Given the description of an element on the screen output the (x, y) to click on. 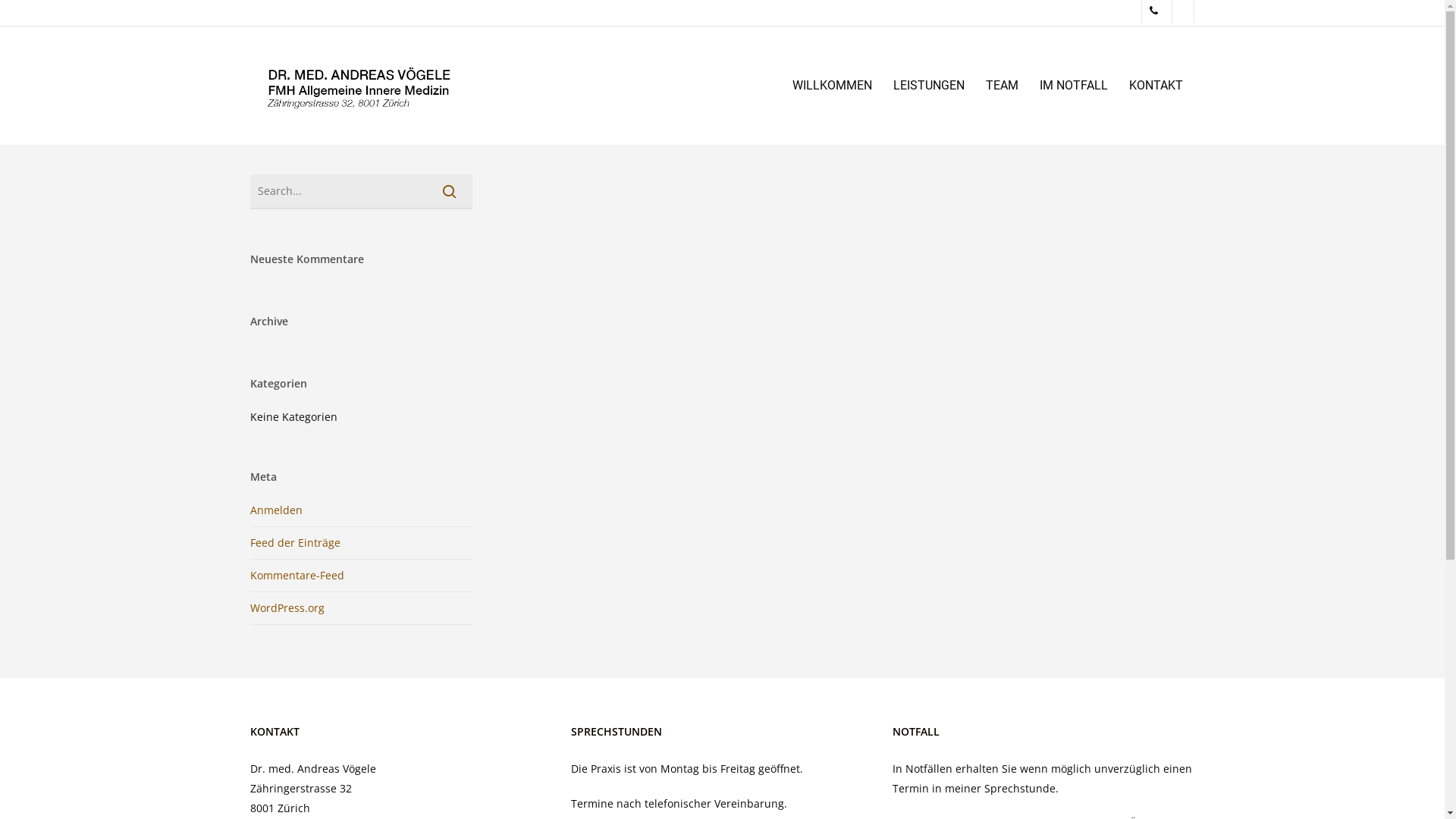
TEAM Element type: text (1001, 85)
WordPress.org Element type: text (287, 607)
Kommentare-Feed Element type: text (297, 574)
LEISTUNGEN Element type: text (928, 85)
KONTAKT Element type: text (1156, 85)
IM NOTFALL Element type: text (1073, 85)
WILLKOMMEN Element type: text (832, 85)
Search for: Element type: hover (361, 191)
Anmelden Element type: text (276, 509)
